Given the description of an element on the screen output the (x, y) to click on. 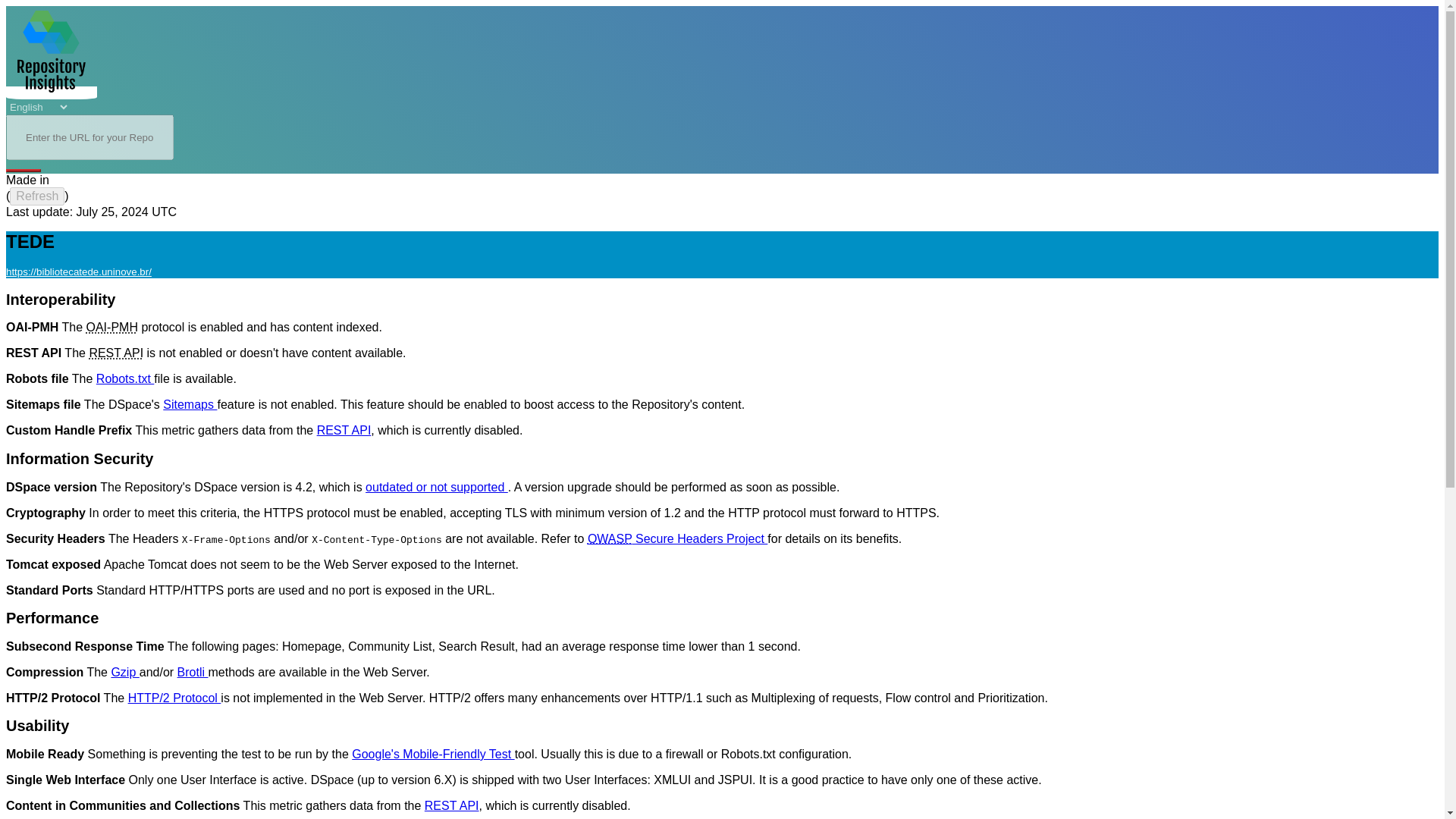
Open Web Application Security Project (609, 538)
outdated or not supported (436, 486)
Sitemaps (189, 404)
Robots.txt (125, 378)
OWASP Secure Headers Project (677, 538)
Repository Insights (51, 51)
External link to the Repository (78, 271)
REST API (344, 430)
Brazil (60, 180)
Refresh (37, 196)
Search (22, 169)
Refresh metrics (37, 196)
Google's Mobile-Friendly Test (432, 753)
Gzip (124, 671)
